Given the description of an element on the screen output the (x, y) to click on. 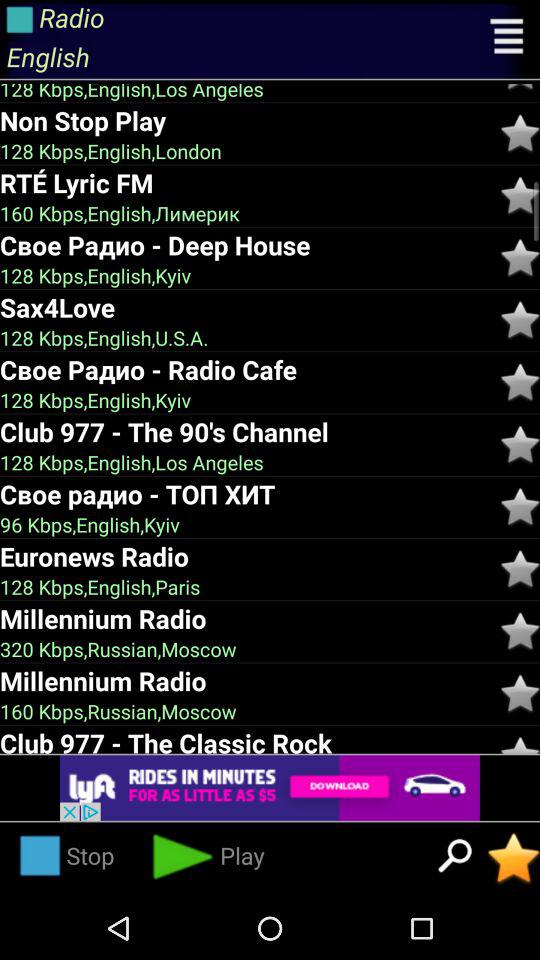
add this song to favourite (520, 382)
